Given the description of an element on the screen output the (x, y) to click on. 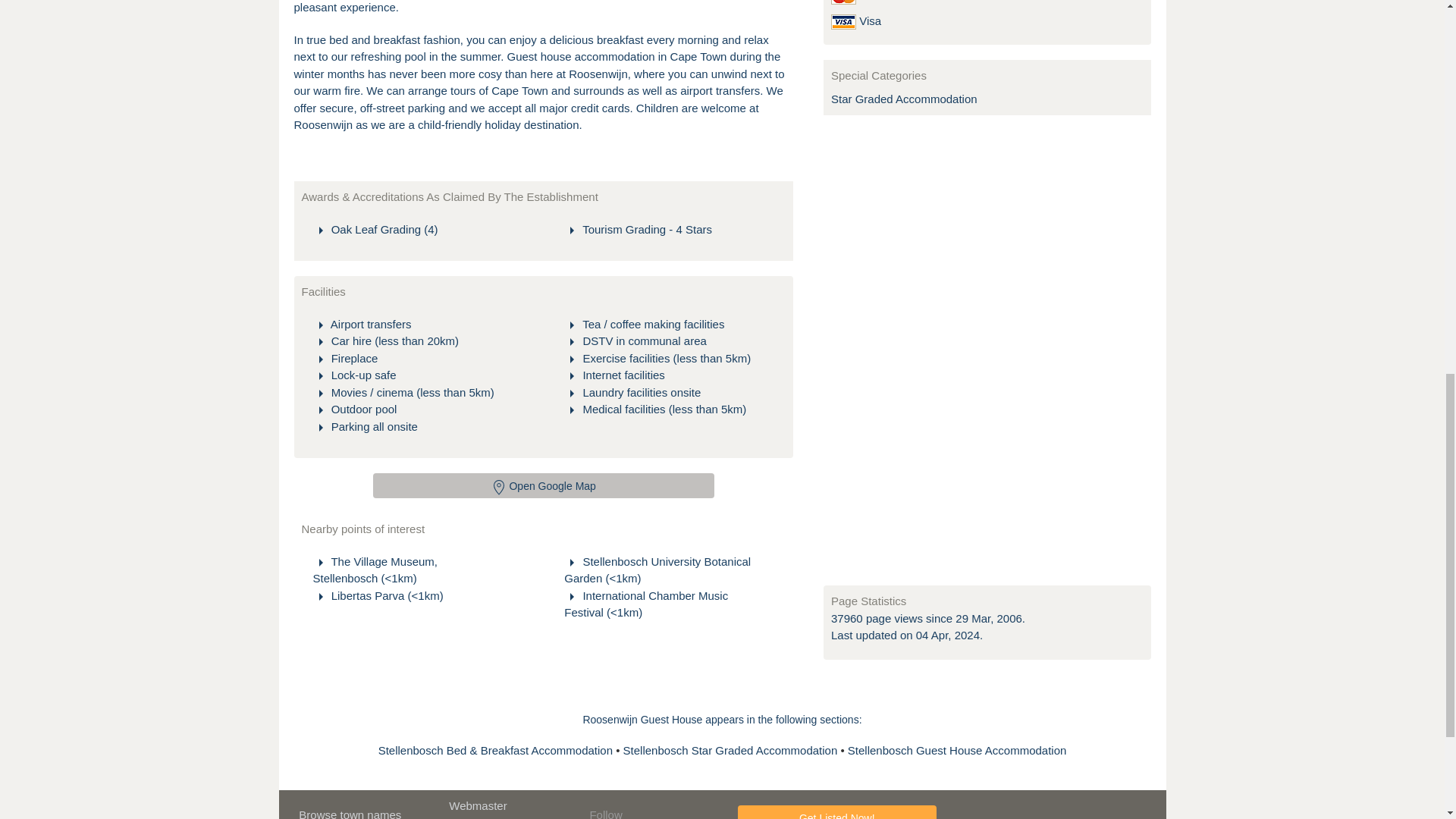
MasterCard (843, 2)
Visa (843, 21)
Stellenbosch Guest House Accommodation (957, 749)
Stellenbosch Star Graded Accommodation (732, 749)
